Given the description of an element on the screen output the (x, y) to click on. 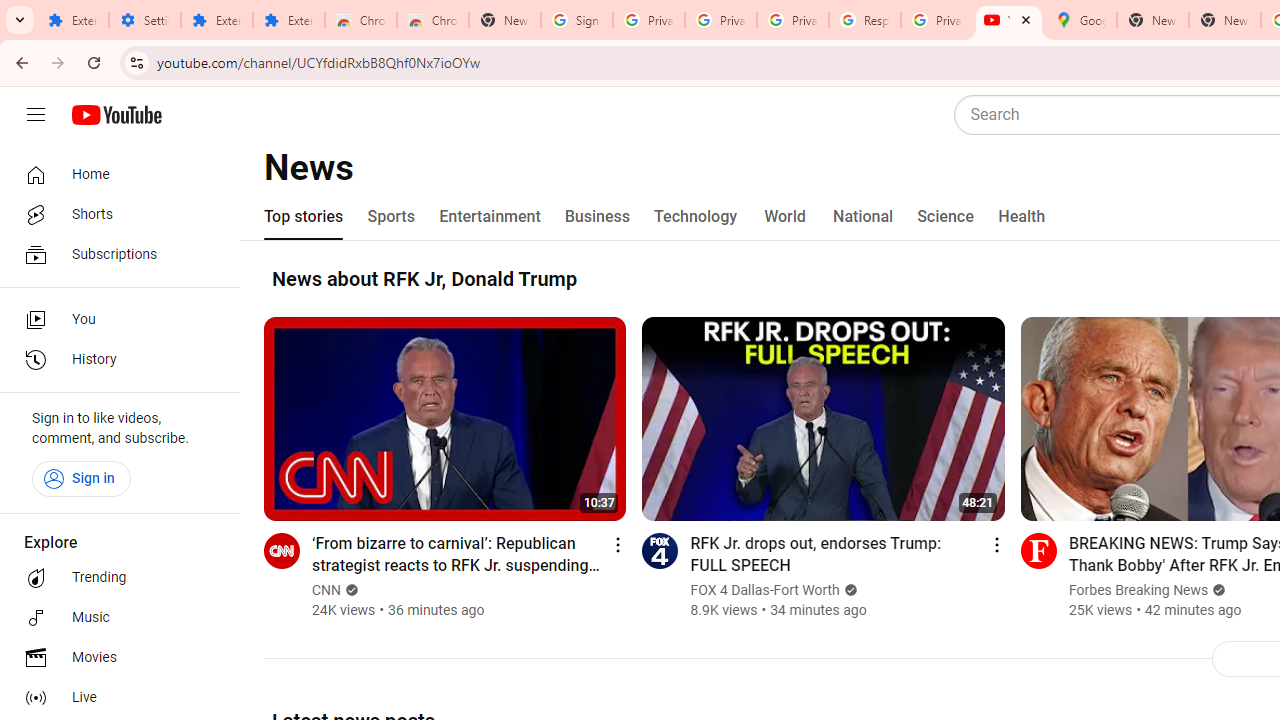
Trending (113, 578)
Home (113, 174)
FOX 4 Dallas-Fort Worth (765, 590)
National (863, 216)
Google Maps (1080, 20)
Extensions (289, 20)
Extensions (216, 20)
Action menu (996, 544)
Extensions (72, 20)
Technology (696, 216)
New Tab (1224, 20)
CNN (327, 590)
